Given the description of an element on the screen output the (x, y) to click on. 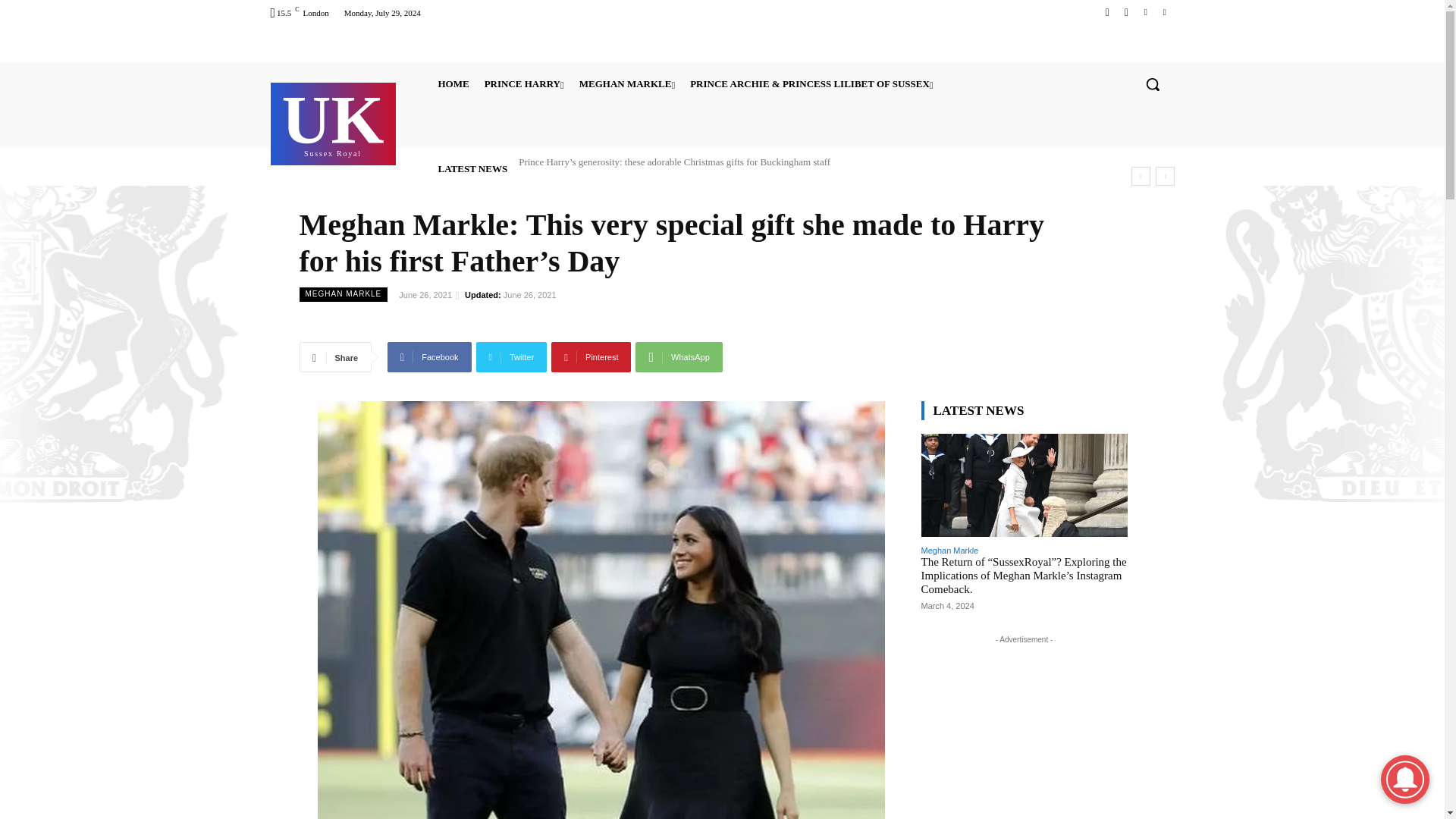
PRINCE HARRY (524, 83)
HOME (333, 122)
